Given the description of an element on the screen output the (x, y) to click on. 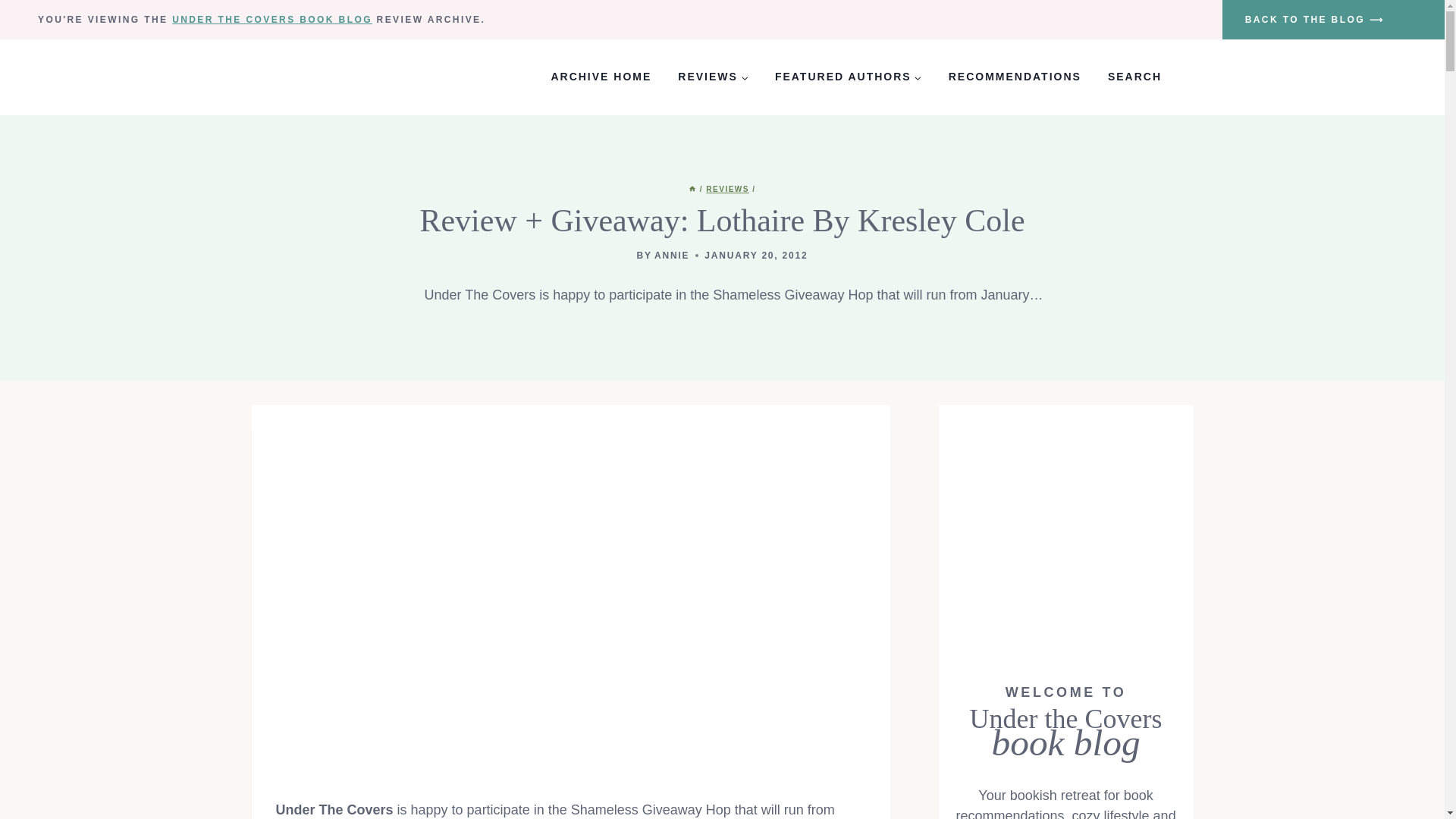
REVIEWS (727, 189)
SEARCH (1134, 77)
RECOMMENDATIONS (1014, 77)
Home (691, 189)
ARCHIVE HOME (601, 77)
UNDER THE COVERS BOOK BLOG (271, 19)
FEATURED AUTHORS (847, 77)
REVIEWS (713, 77)
ANNIE (670, 255)
